Given the description of an element on the screen output the (x, y) to click on. 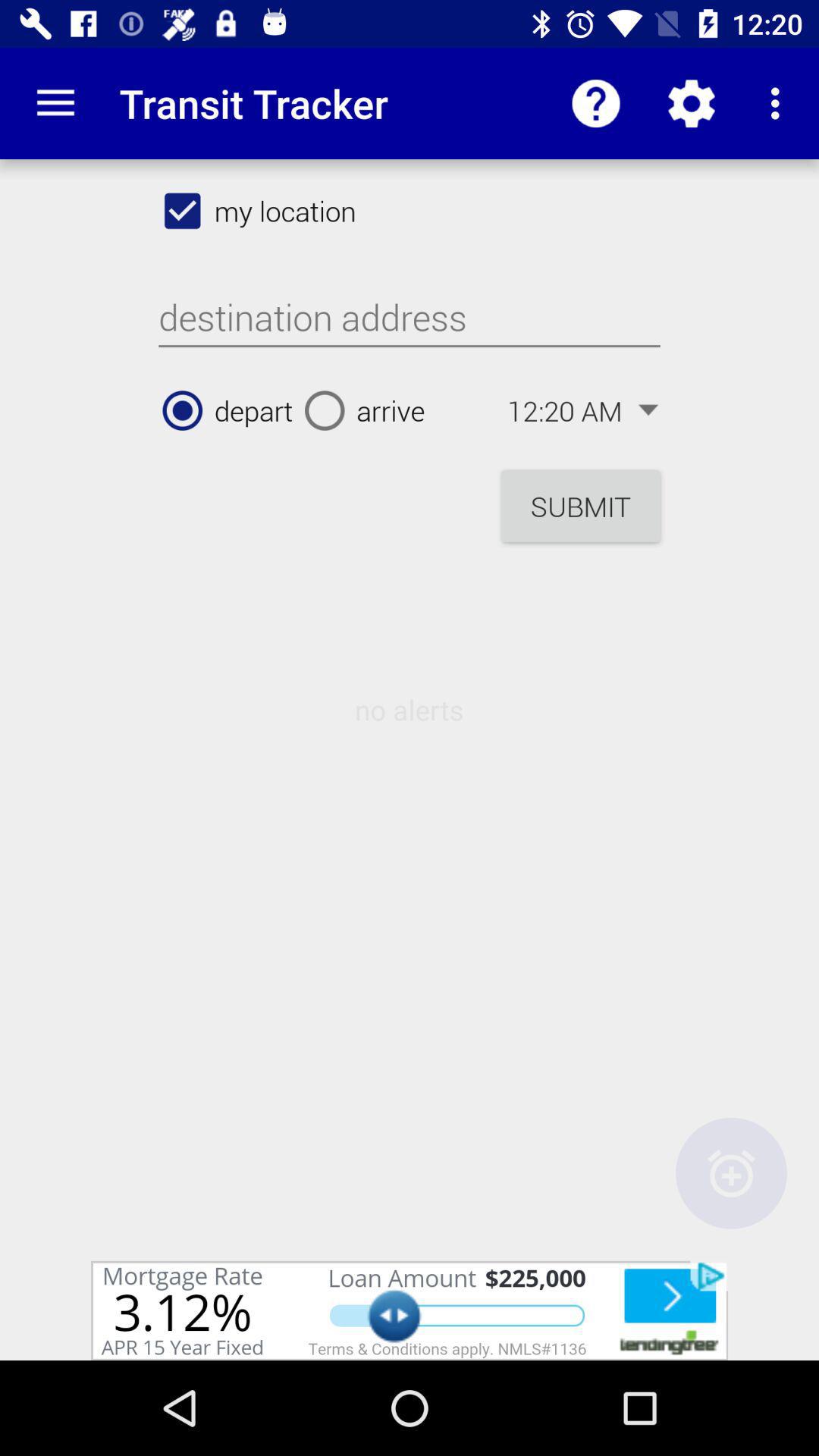
click bottom advertisement (409, 1310)
